Given the description of an element on the screen output the (x, y) to click on. 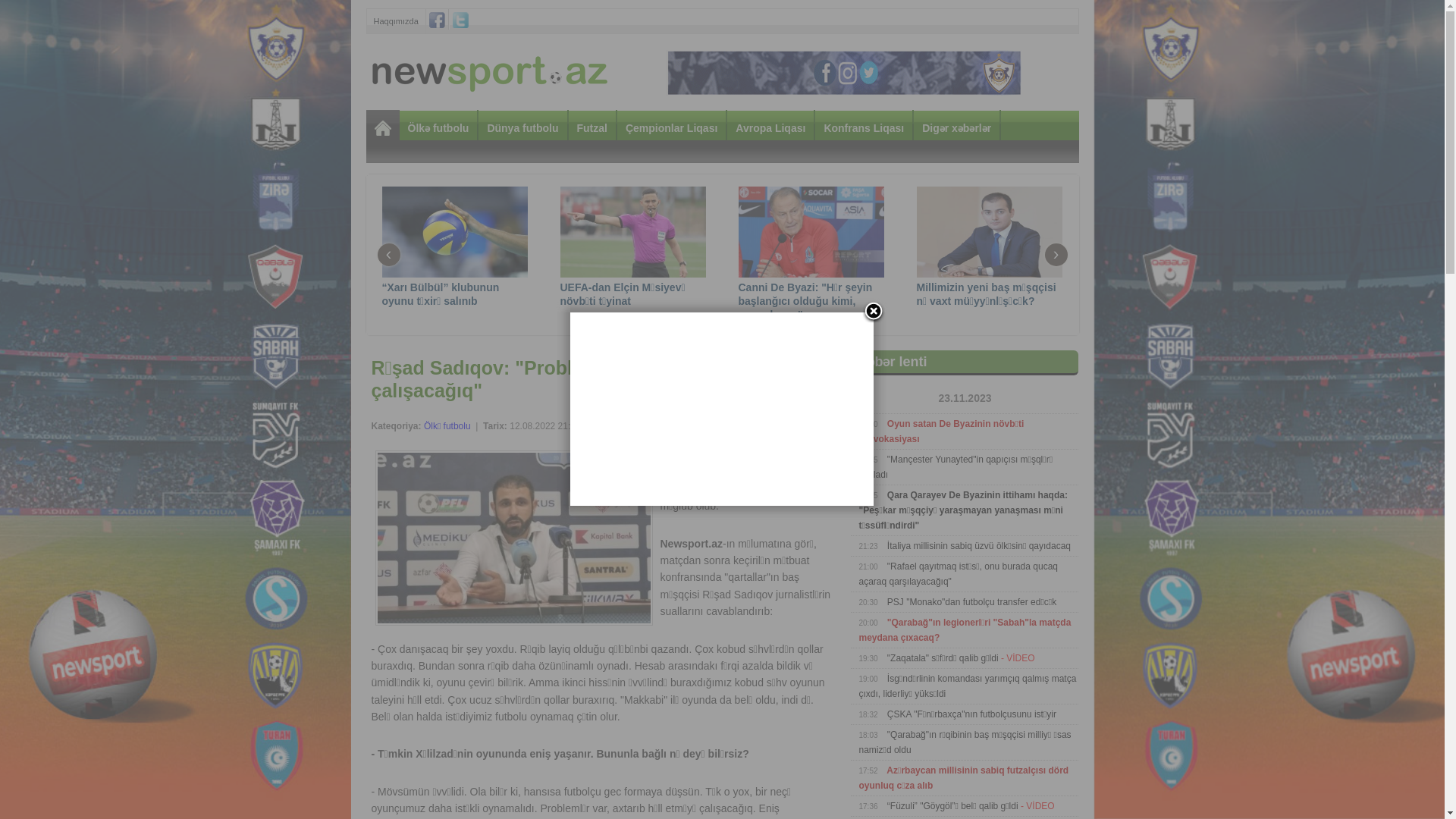
Futzal Element type: text (591, 126)
